Given the description of an element on the screen output the (x, y) to click on. 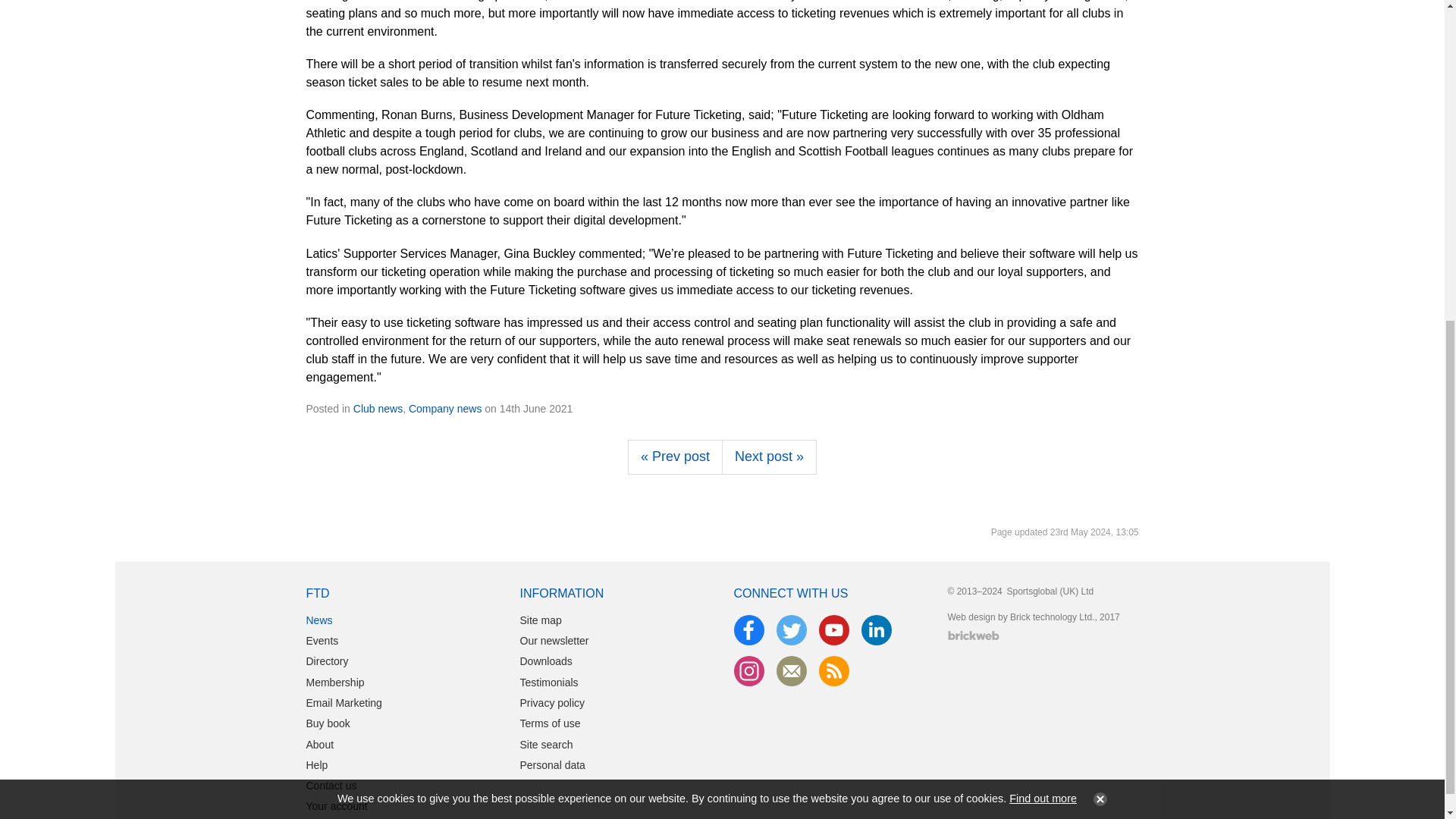
Twitter (791, 630)
Facebook (749, 630)
RSS (834, 671)
LinkedIn (877, 630)
Continue (1096, 262)
Newsletter (791, 671)
YouTube (834, 630)
Instagram (749, 671)
Website designed and maintained by Brick technology Ltd. (972, 634)
